Given the description of an element on the screen output the (x, y) to click on. 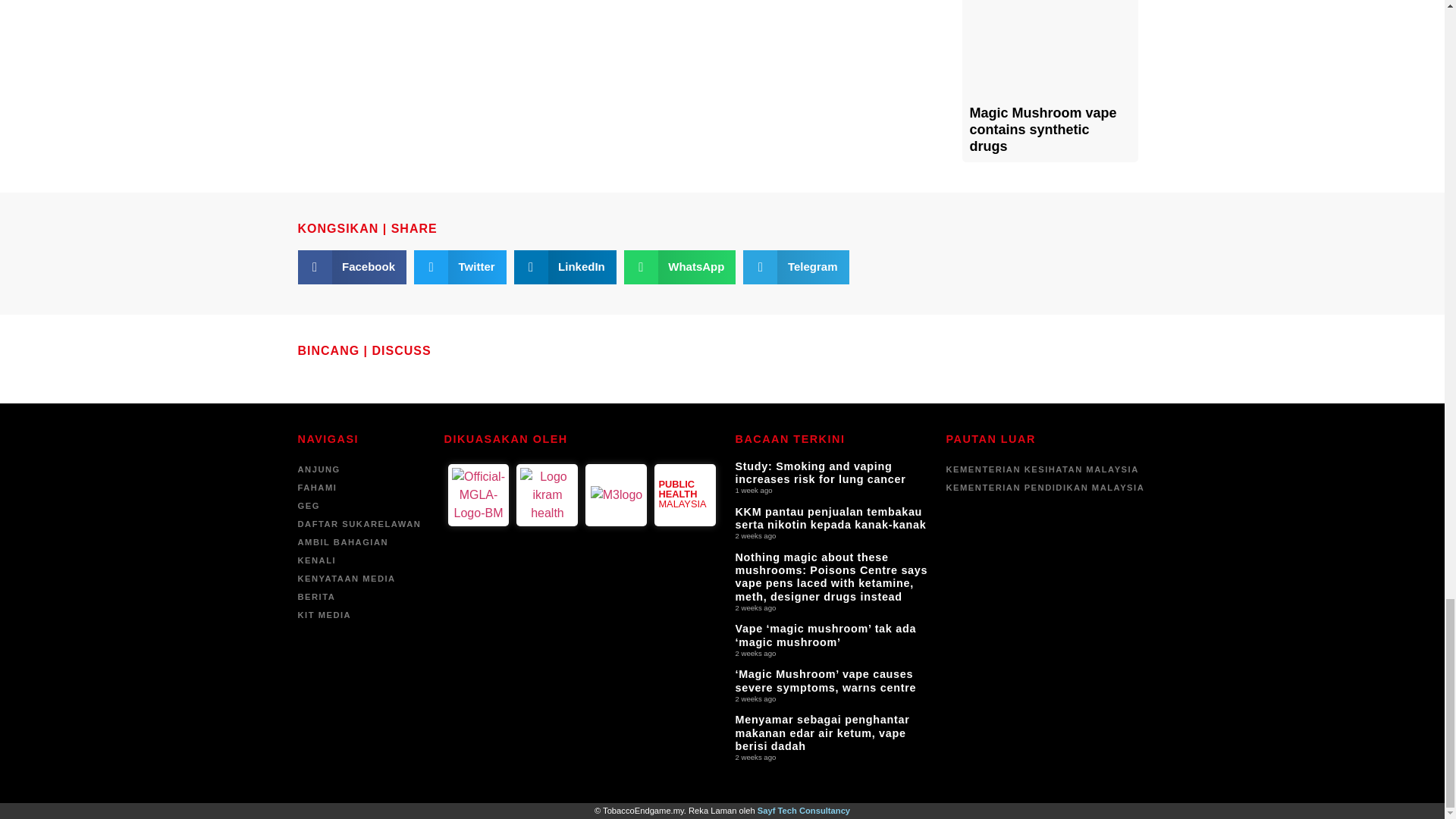
Logo ikram health (546, 494)
M3logo (616, 495)
Official-MGLA-Logo-BM (478, 494)
